Given the description of an element on the screen output the (x, y) to click on. 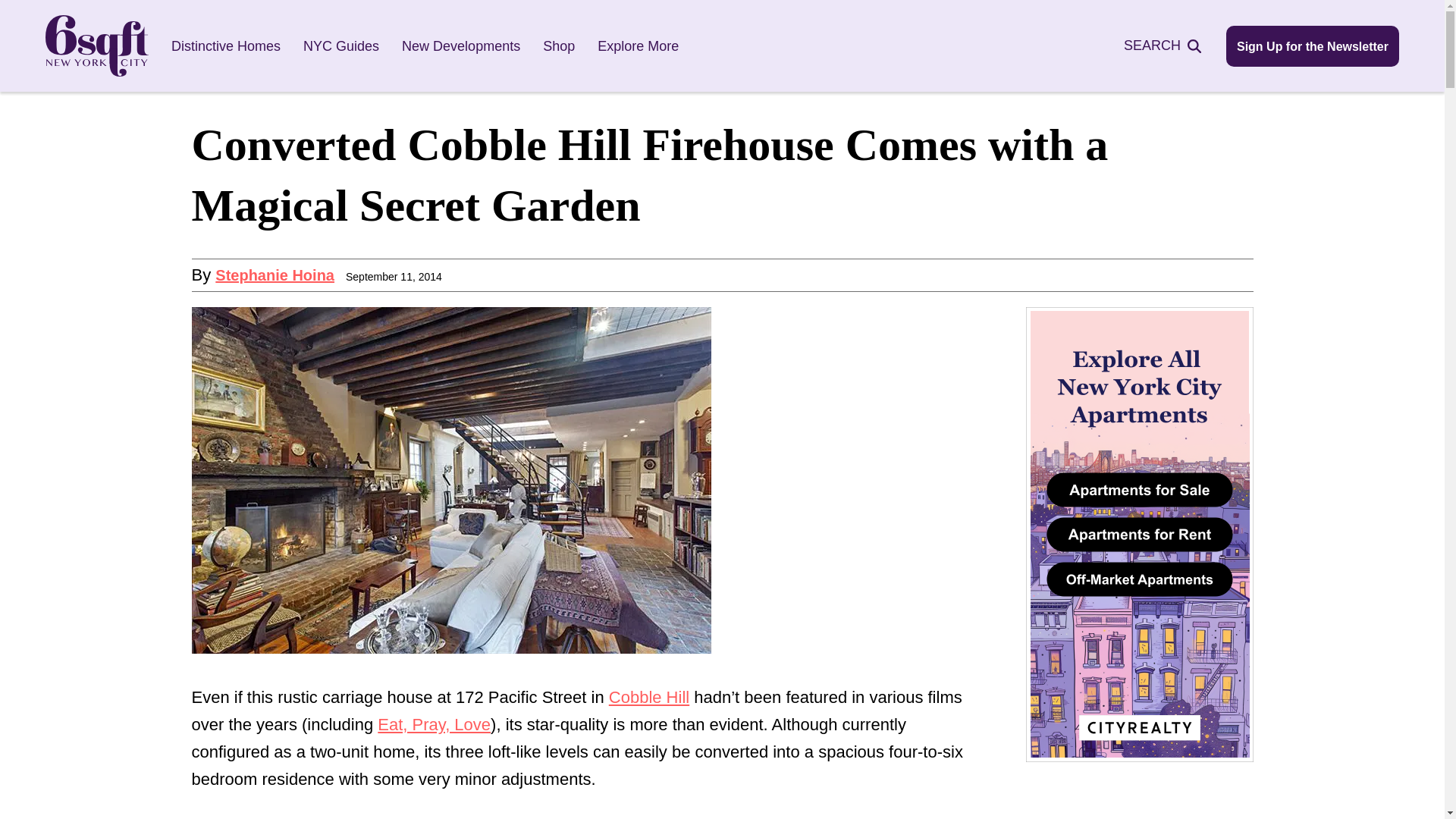
Sign Up for the Newsletter (1312, 45)
Distinctive Homes (226, 46)
New Developments (460, 46)
Eat, Pray, Love (433, 723)
CityRealty: Cobble Hill (648, 696)
SEARCH (1171, 45)
NYC Guides (340, 46)
Stephanie Hoina (274, 274)
Shop (559, 46)
